Given the description of an element on the screen output the (x, y) to click on. 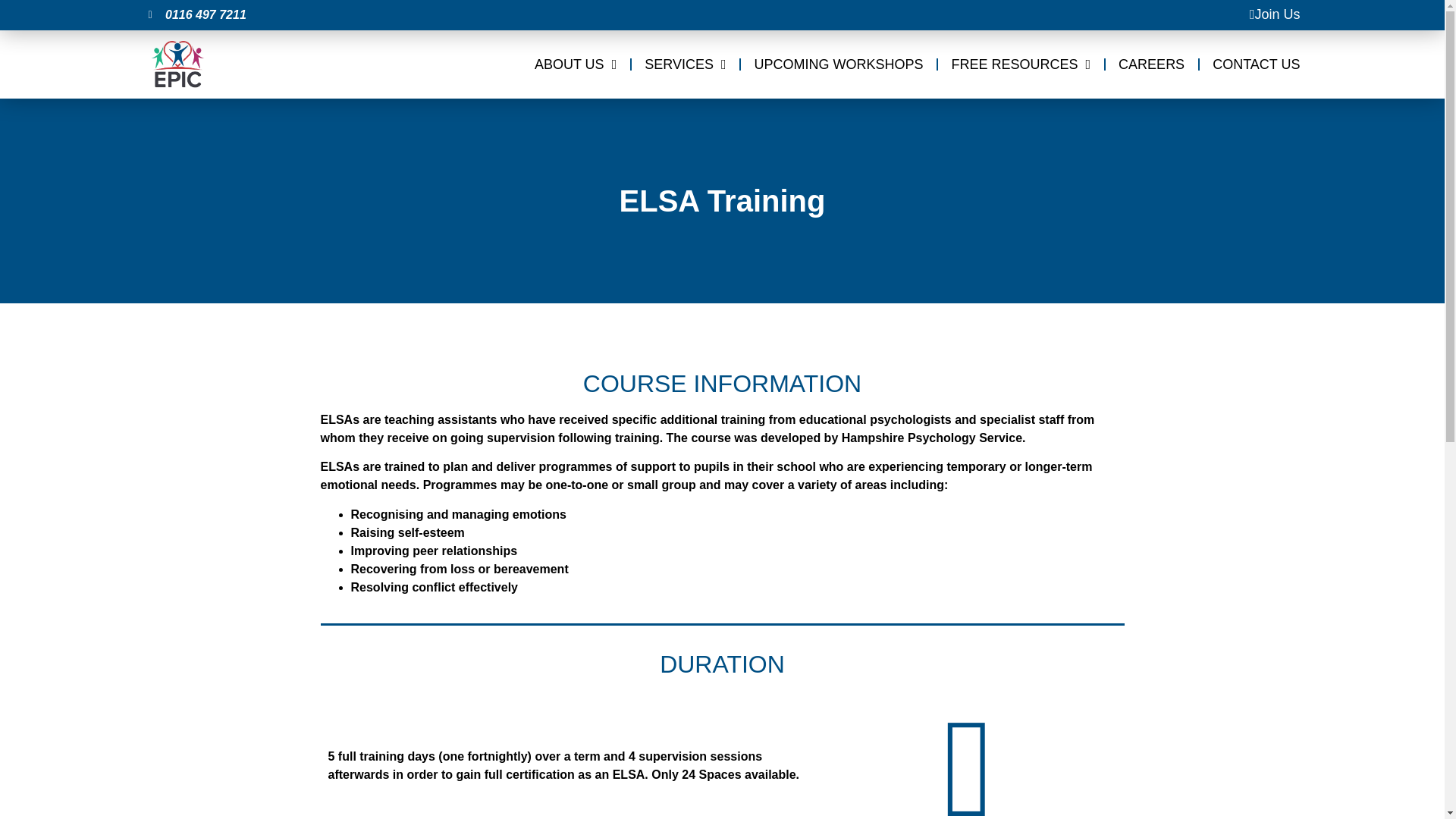
CONTACT US (1256, 63)
ABOUT US (574, 63)
UPCOMING WORKSHOPS (838, 63)
CAREERS (1151, 63)
SERVICES (685, 63)
FREE RESOURCES (1020, 63)
0116 497 7211 (435, 14)
Join Us (1274, 14)
